Given the description of an element on the screen output the (x, y) to click on. 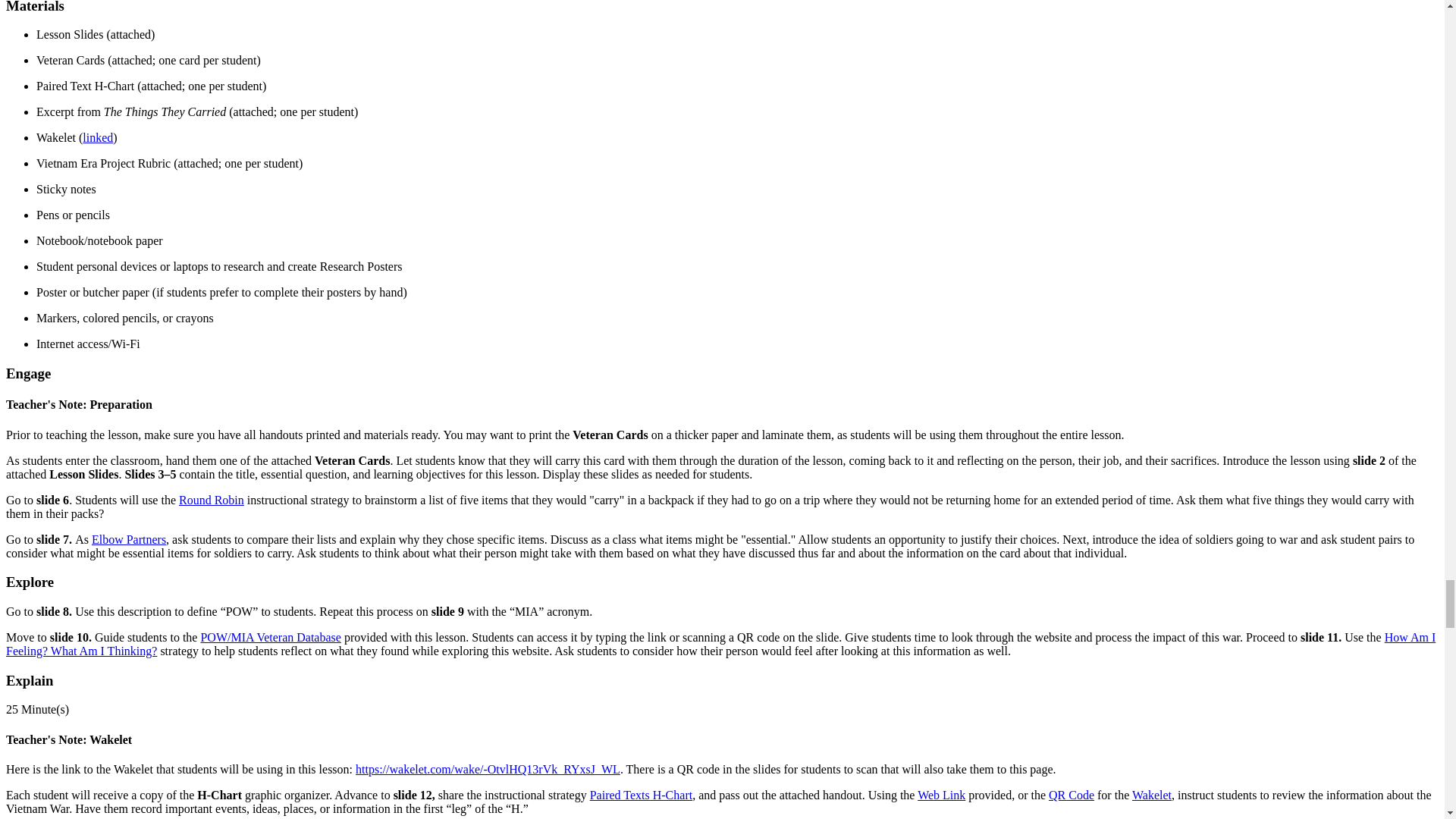
Web Link (941, 794)
linked (97, 137)
Wakelet (1152, 794)
Round Robin (211, 499)
QR Code (1071, 794)
Elbow Partners (128, 539)
Paired Texts H-Chart (641, 794)
